Given the description of an element on the screen output the (x, y) to click on. 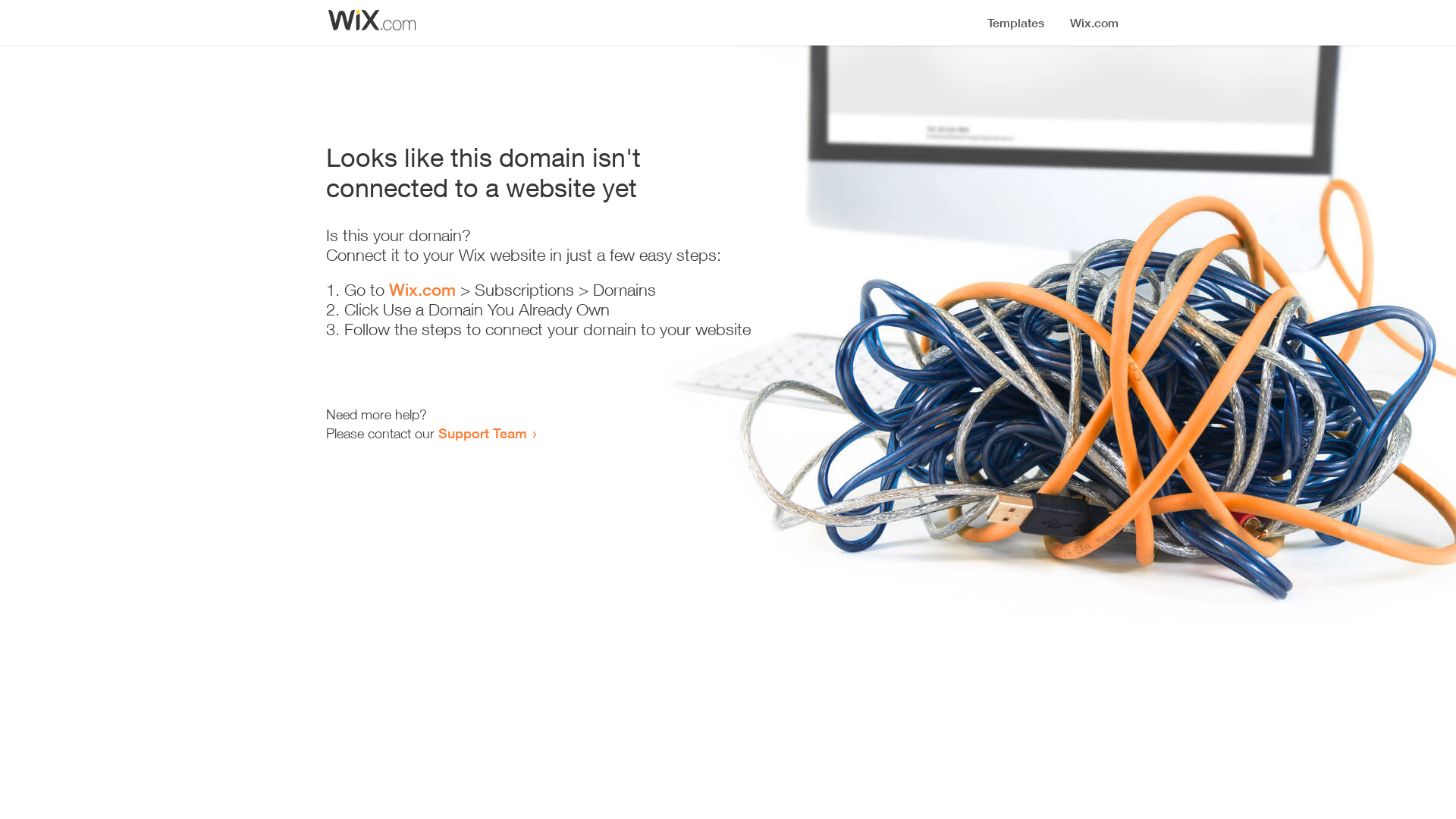
Support Team Element type: text (482, 432)
Wix.com Element type: text (422, 289)
